Given the description of an element on the screen output the (x, y) to click on. 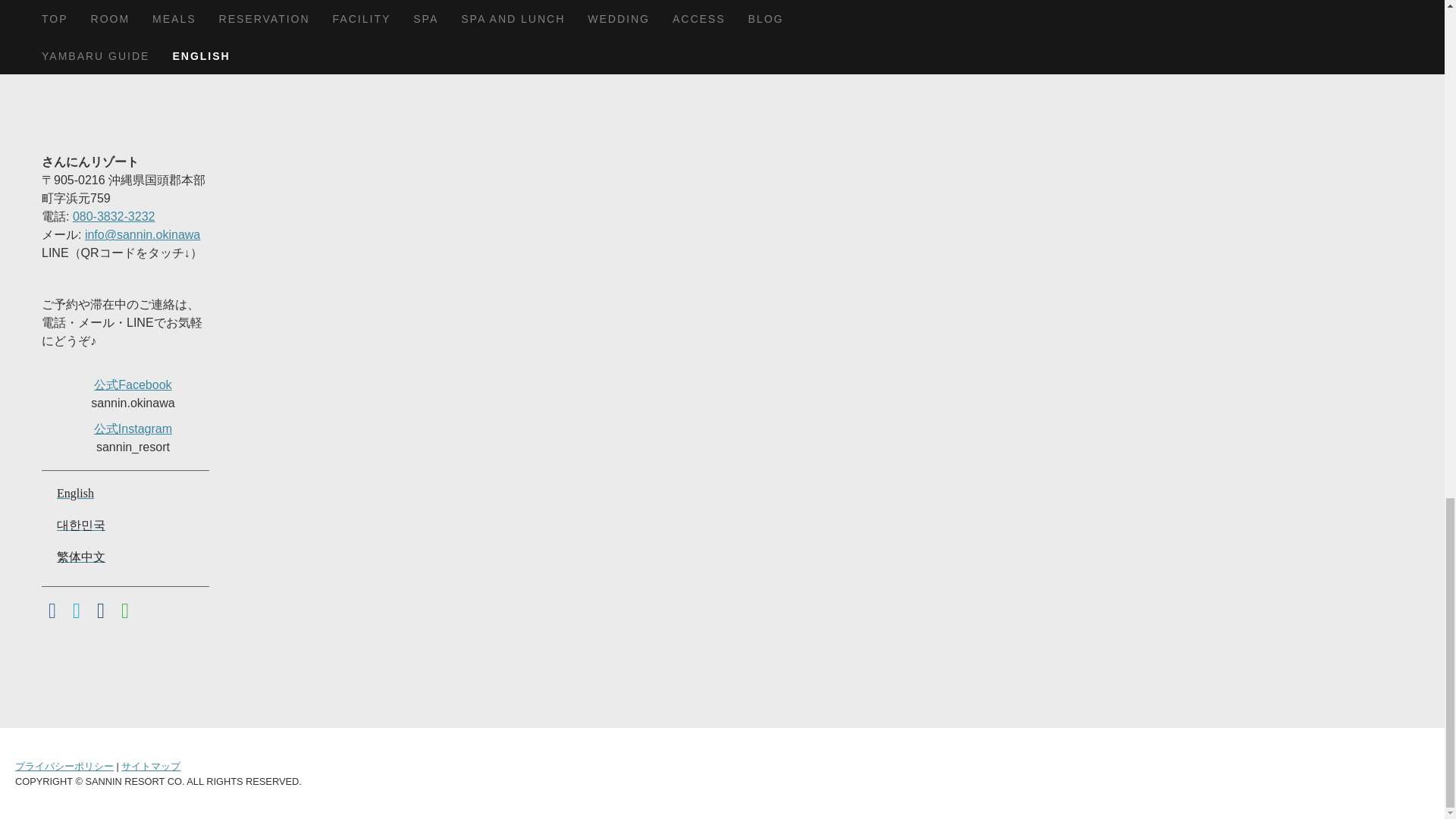
Line (125, 610)
Twitter (76, 610)
Facebook (52, 610)
